Given the description of an element on the screen output the (x, y) to click on. 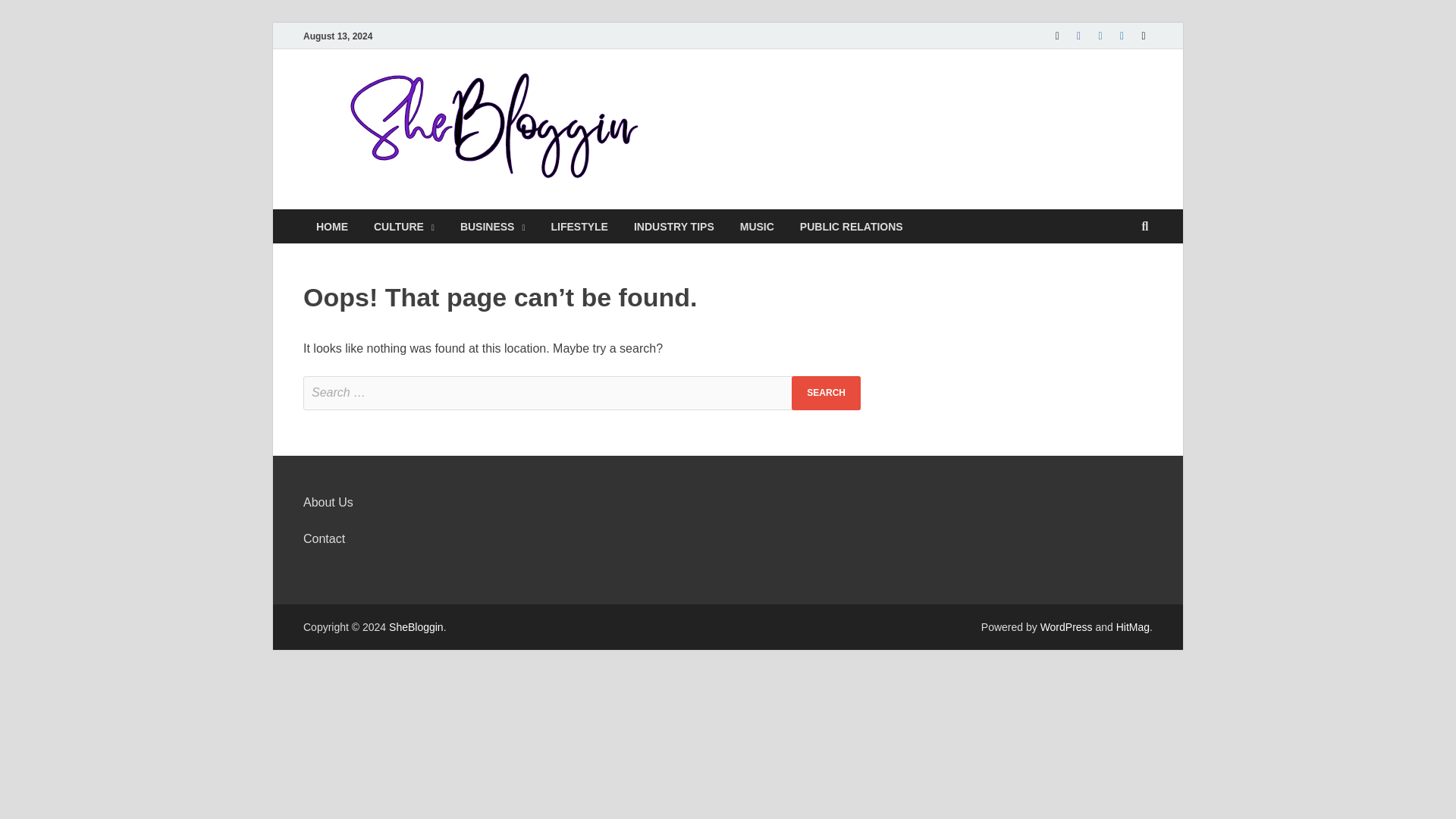
PUBLIC RELATIONS (851, 226)
HOME (331, 226)
Search (826, 392)
BUSINESS (492, 226)
About Us (327, 502)
INDUSTRY TIPS (673, 226)
Search (826, 392)
Search (826, 392)
SheBloggin (769, 100)
Lotti Creatives (851, 226)
